Given the description of an element on the screen output the (x, y) to click on. 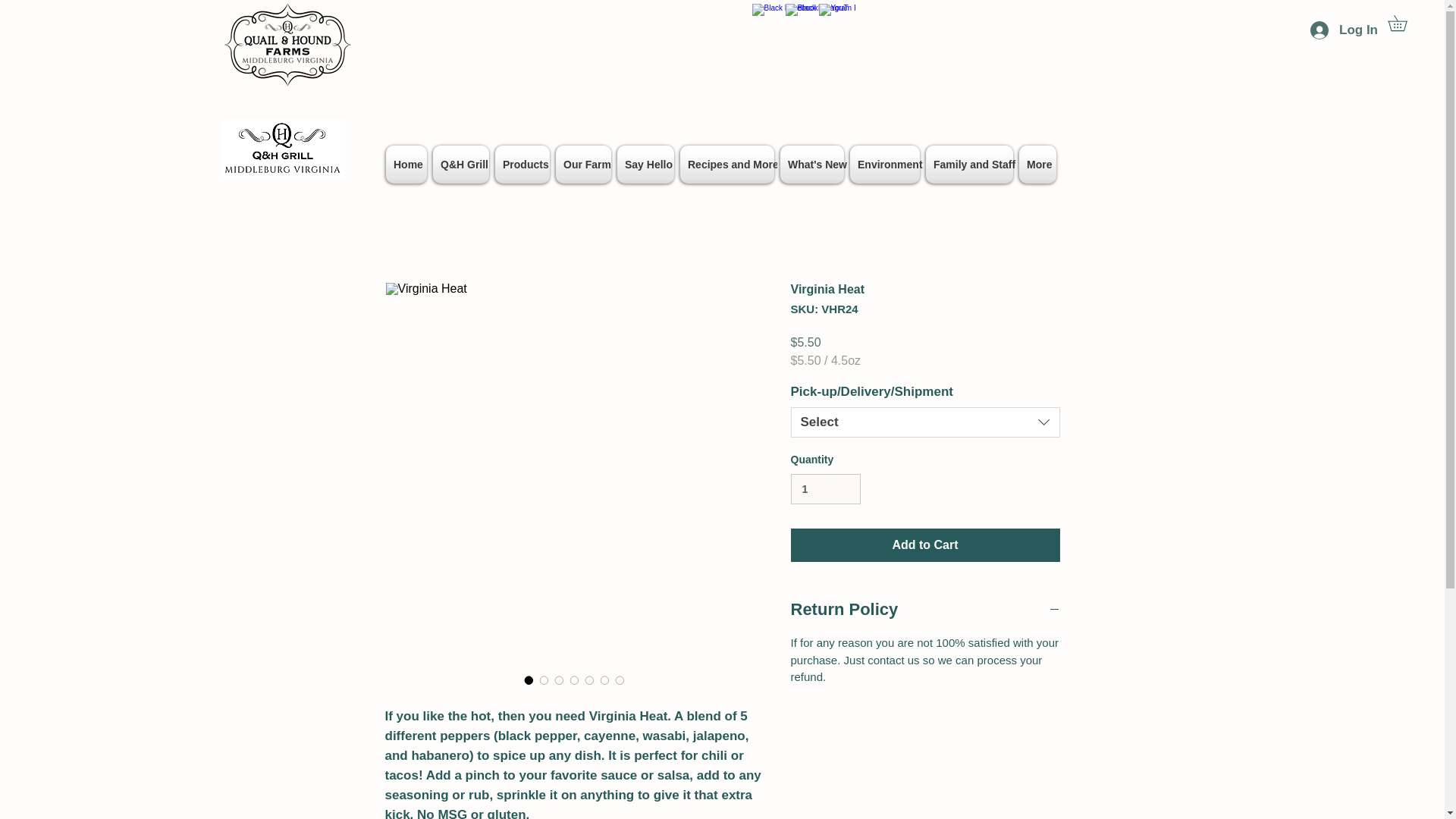
Recipes and More (727, 164)
Our Farm (583, 164)
What's New (812, 164)
Products (522, 164)
Add to Cart (924, 544)
Log In (1343, 30)
Environment (885, 164)
Family and Staff (969, 164)
Say Hello (645, 164)
Home (405, 164)
